Given the description of an element on the screen output the (x, y) to click on. 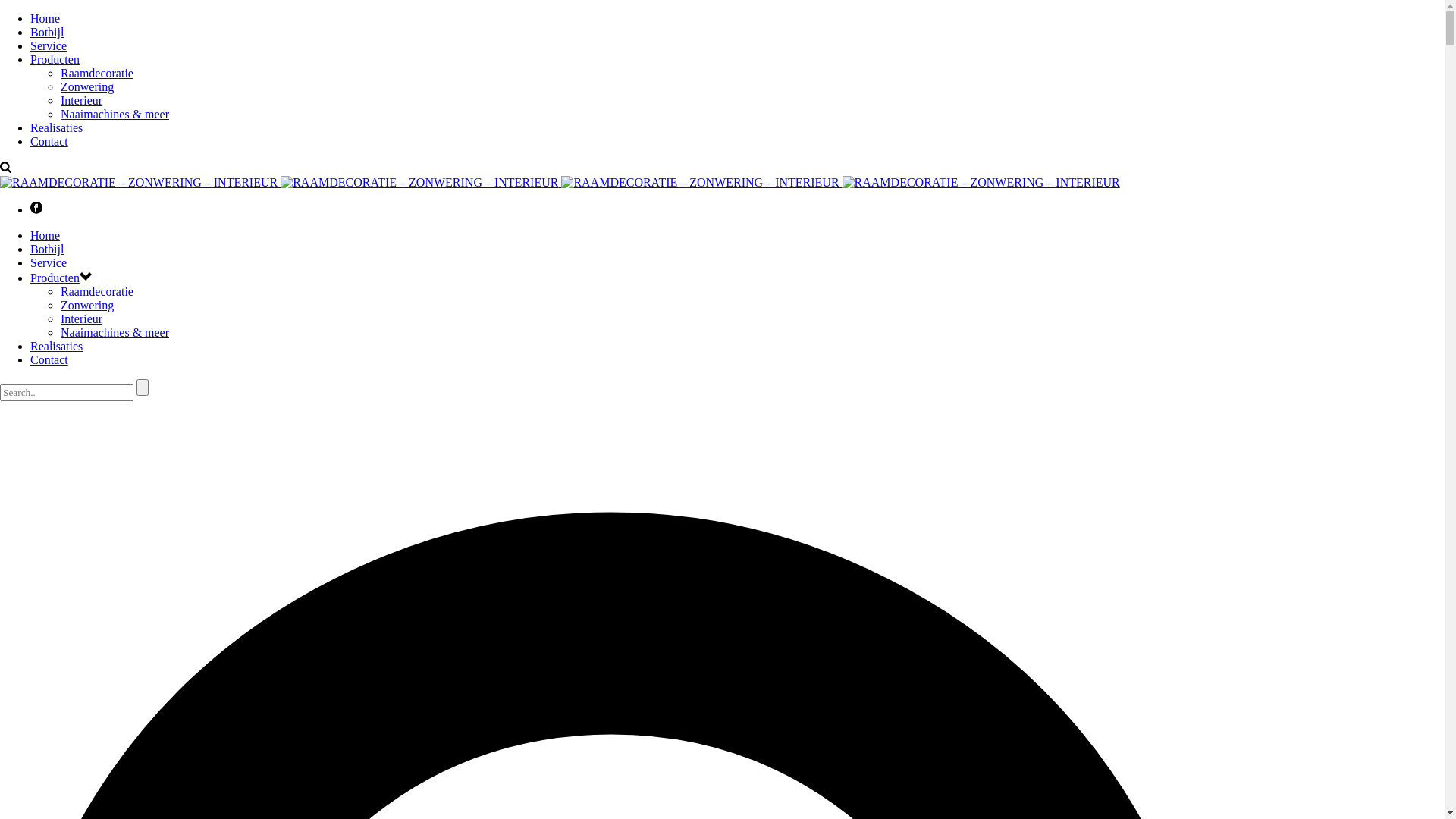
Zonwering Element type: text (86, 86)
Service Element type: text (48, 45)
Producten Element type: text (54, 59)
Contact Element type: text (49, 140)
Realisaties Element type: text (56, 127)
Naaimachines & meer Element type: text (114, 113)
Realisaties Element type: text (56, 345)
Botbijl Element type: text (46, 31)
Zonwering Element type: text (86, 304)
Naaimachines & meer Element type: text (114, 332)
Contact Element type: text (49, 359)
Producten Element type: text (54, 277)
Interieur Element type: text (81, 100)
Botbijl Element type: text (46, 248)
Interieur Element type: text (81, 318)
Raamdecoratie Element type: text (96, 72)
Home Element type: text (44, 235)
Service Element type: text (48, 262)
Home Element type: text (44, 18)
Raamdecoratie Element type: text (96, 291)
Botbijl Element type: hover (560, 181)
